Given the description of an element on the screen output the (x, y) to click on. 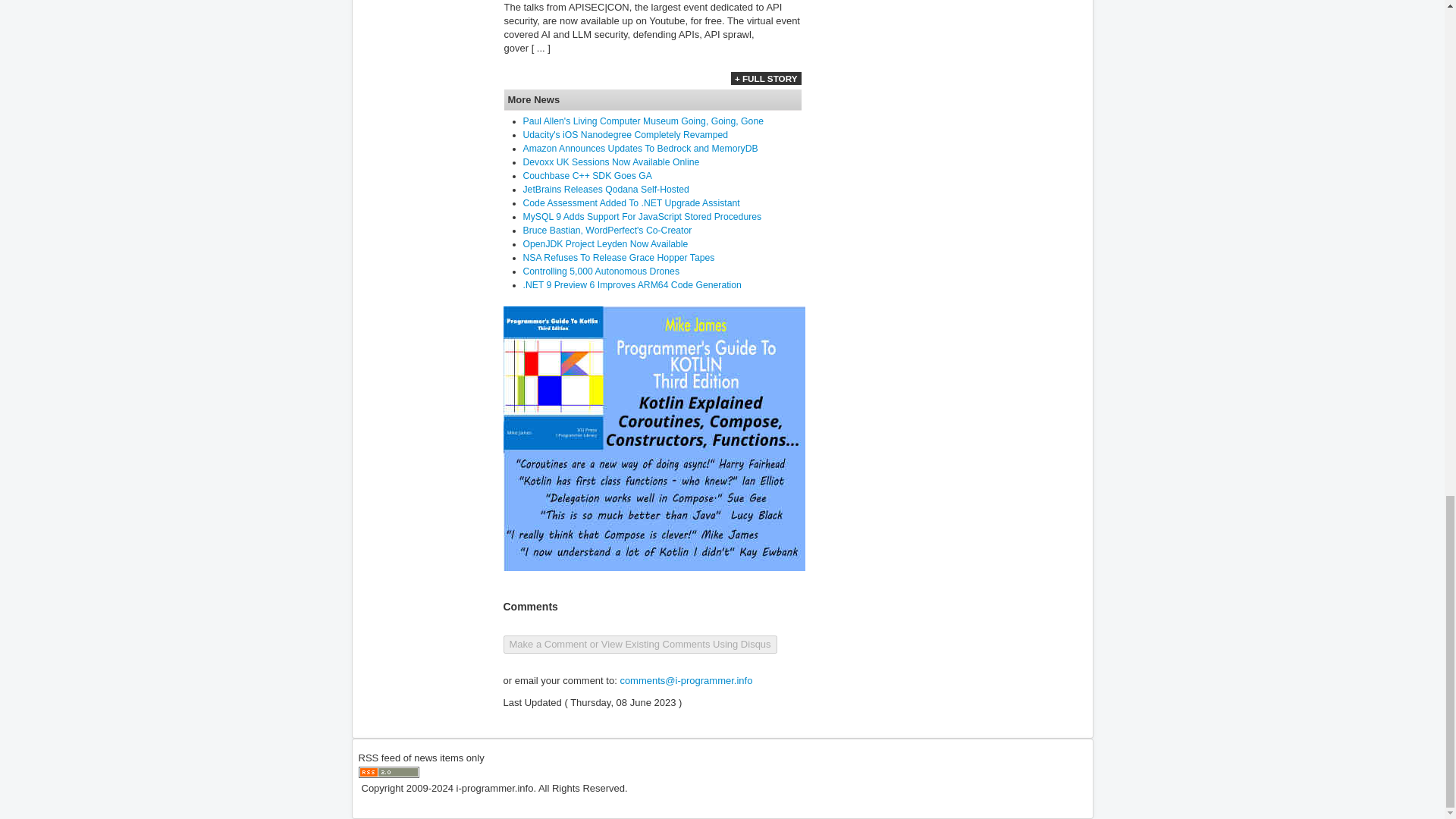
I Programmer News (388, 772)
